Given the description of an element on the screen output the (x, y) to click on. 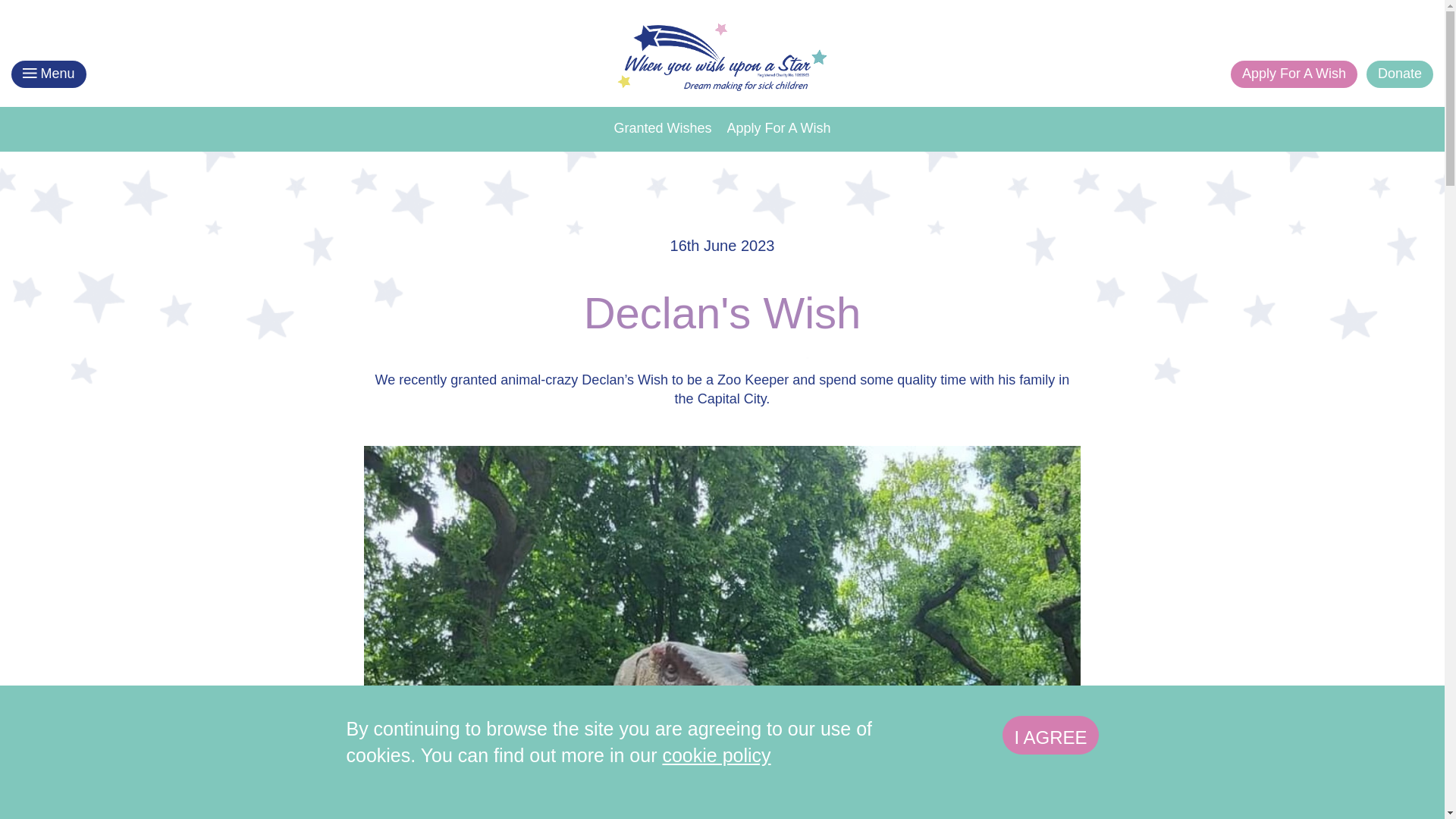
Apply For A Wish (777, 127)
Apply For A Wish (1293, 73)
Menu (48, 73)
Granted Wishes (661, 127)
Donate (1399, 73)
